Given the description of an element on the screen output the (x, y) to click on. 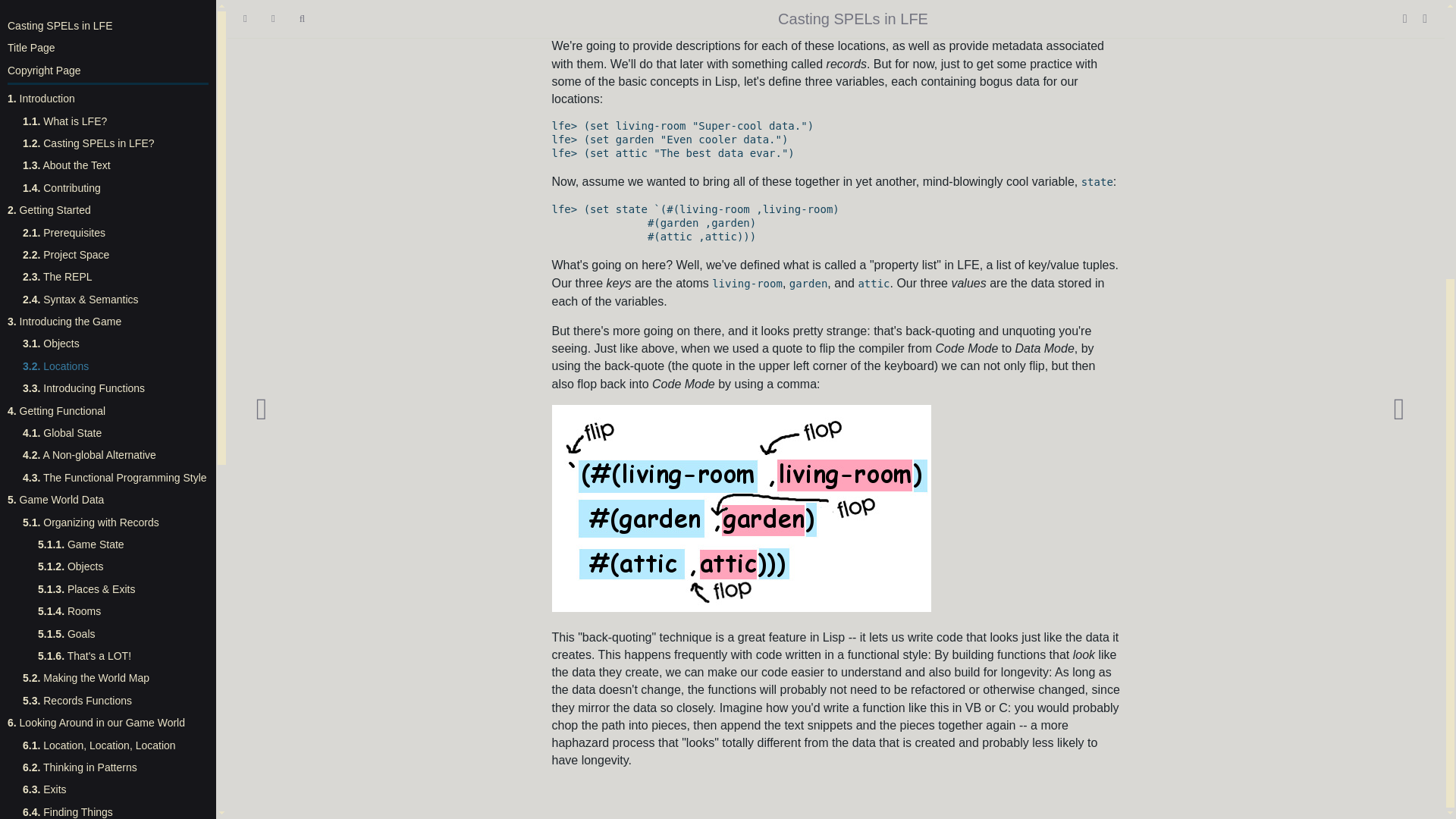
5.1. Organizing with Records (90, 107)
6.4. Finding Things (68, 397)
5.1.5. Goals (66, 219)
6.3. Exits (44, 374)
4. Getting Functional (55, 2)
5. Game World Data (55, 84)
6. Looking Around in our Game World (95, 308)
4.1. Global State (62, 18)
5.2. Making the World Map (86, 263)
6.2. Thinking in Patterns (79, 352)
